Given the description of an element on the screen output the (x, y) to click on. 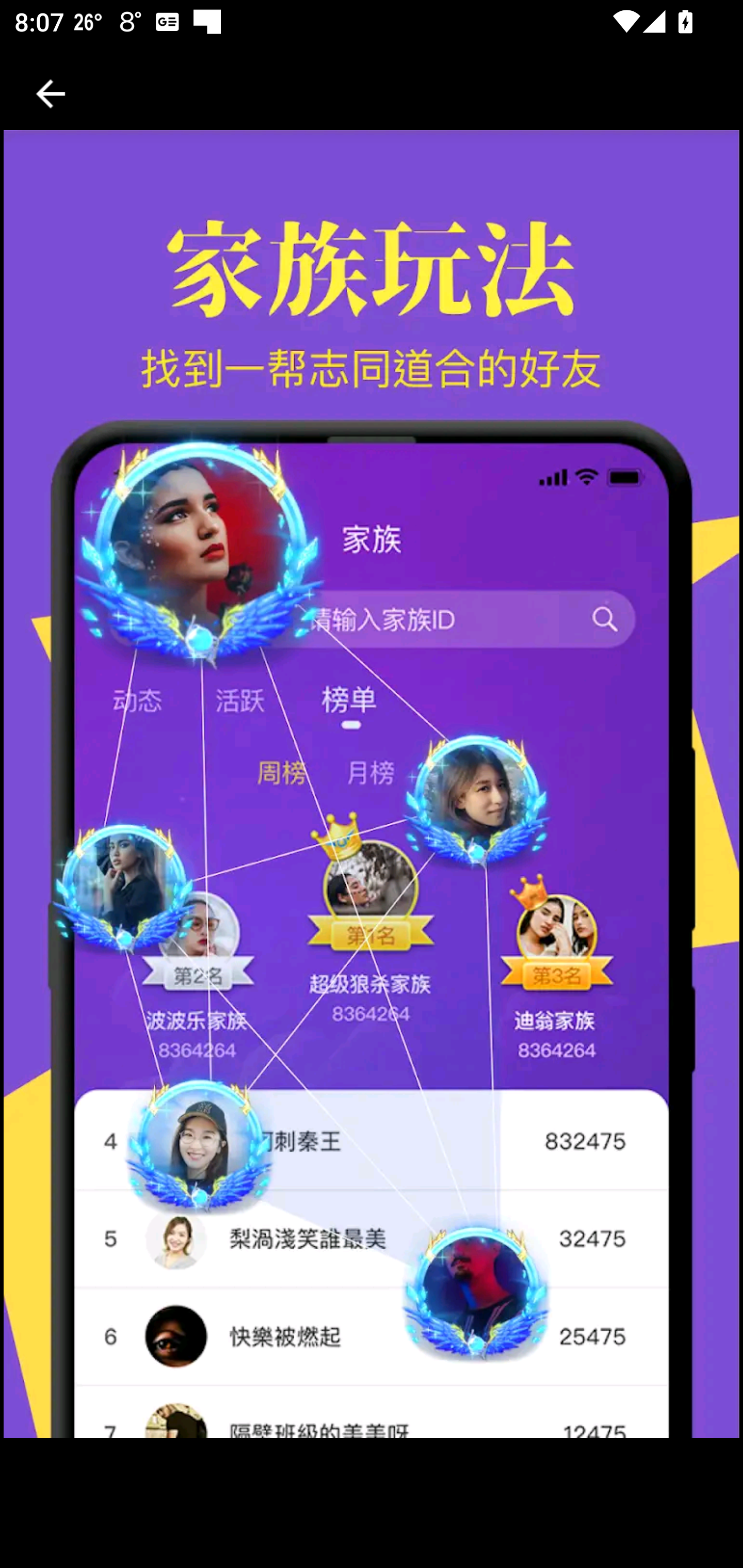
Back (50, 93)
